Given the description of an element on the screen output the (x, y) to click on. 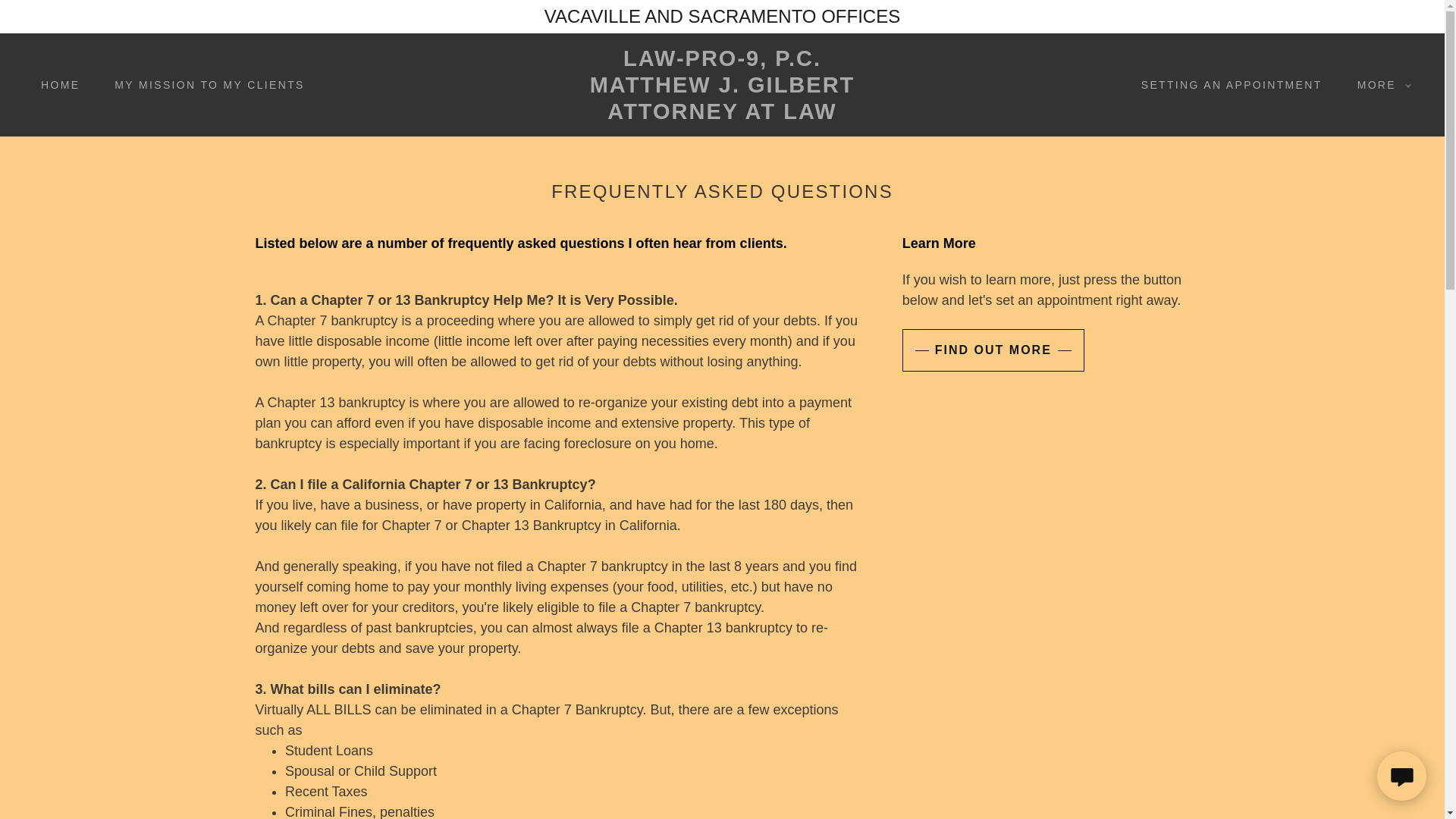
MY MISSION TO MY CLIENTS (722, 114)
MORE (203, 84)
SETTING AN APPOINTMENT (1379, 85)
HOME (722, 114)
